Given the description of an element on the screen output the (x, y) to click on. 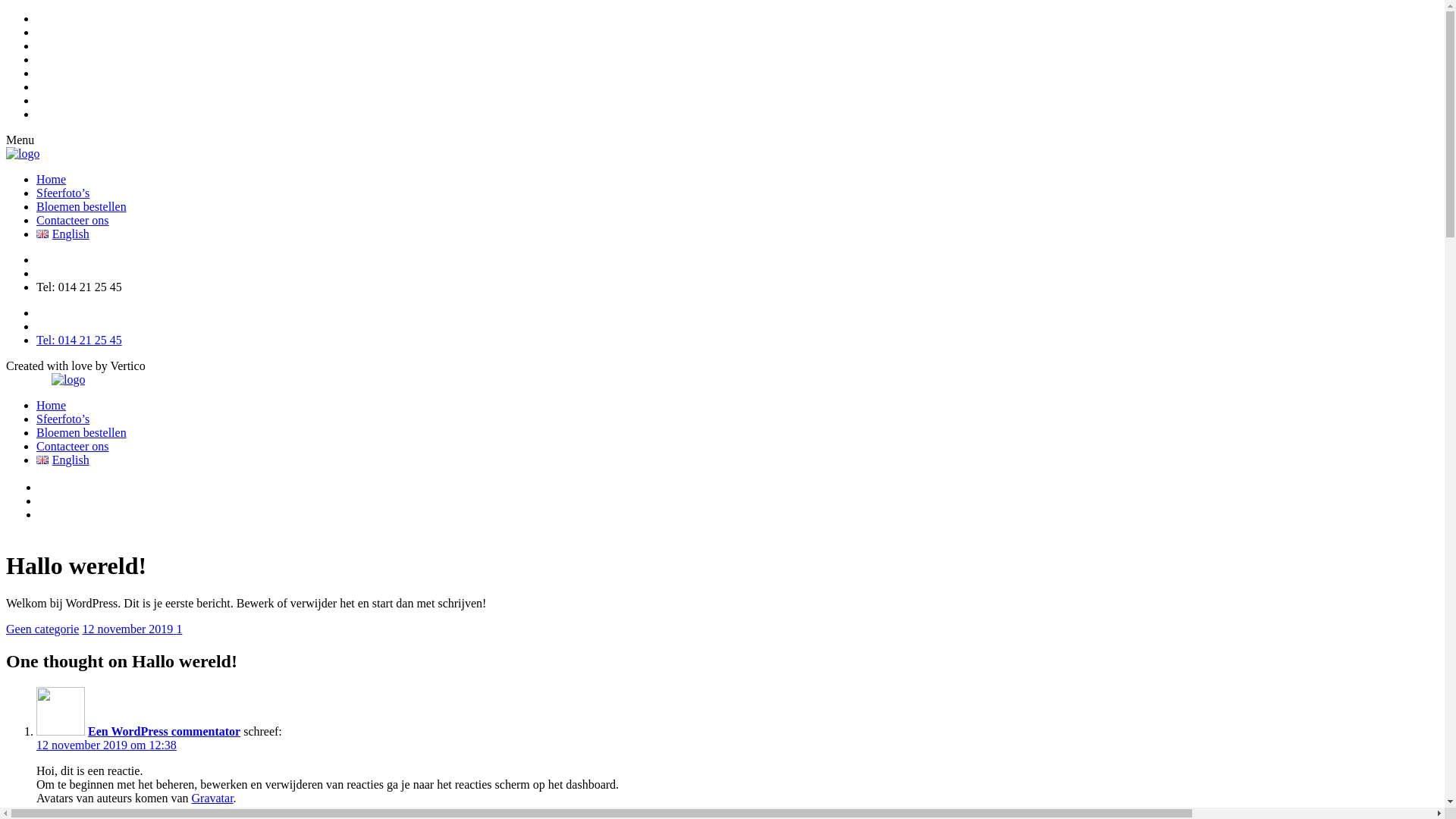
Contacteer ons Element type: text (72, 219)
Geen categorie Element type: text (42, 628)
Gravatar Element type: text (212, 797)
Bloemen bestellen Element type: text (81, 432)
Contacteer ons Element type: text (72, 445)
Home Element type: text (50, 404)
Bloemen bestellen Element type: text (81, 206)
Home Element type: text (50, 178)
12 november 2019 Element type: text (128, 628)
English Element type: text (62, 459)
Tel: 014 21 25 45 Element type: text (79, 339)
1 Element type: text (178, 628)
English Element type: text (62, 233)
Een WordPress commentator Element type: text (163, 730)
12 november 2019 om 12:38 Element type: text (106, 744)
